Given the description of an element on the screen output the (x, y) to click on. 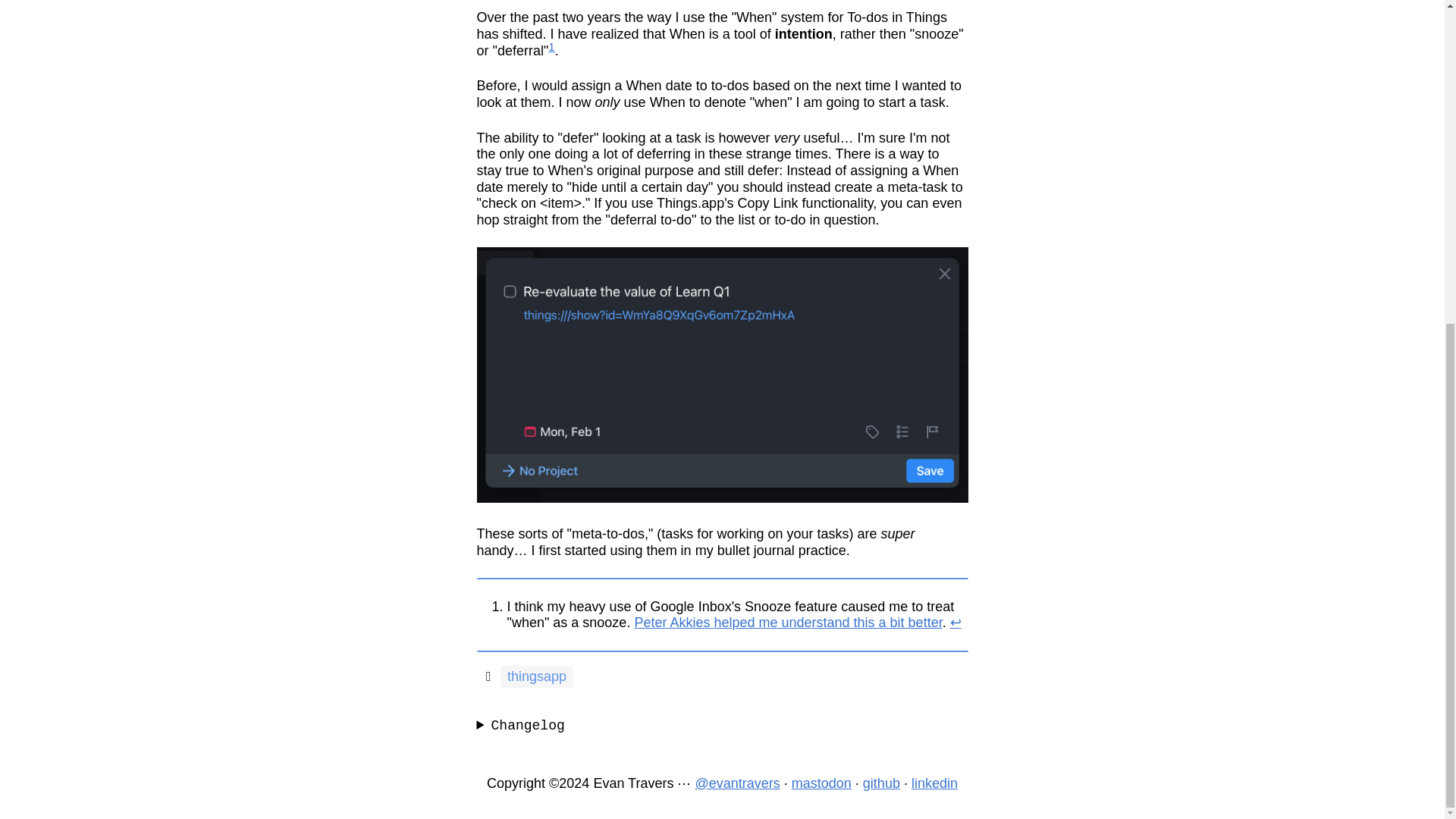
linkedin (934, 783)
github (881, 783)
thingsapp (536, 676)
Peter Akkies helped me understand this a bit better (787, 622)
mastodon (821, 783)
